Given the description of an element on the screen output the (x, y) to click on. 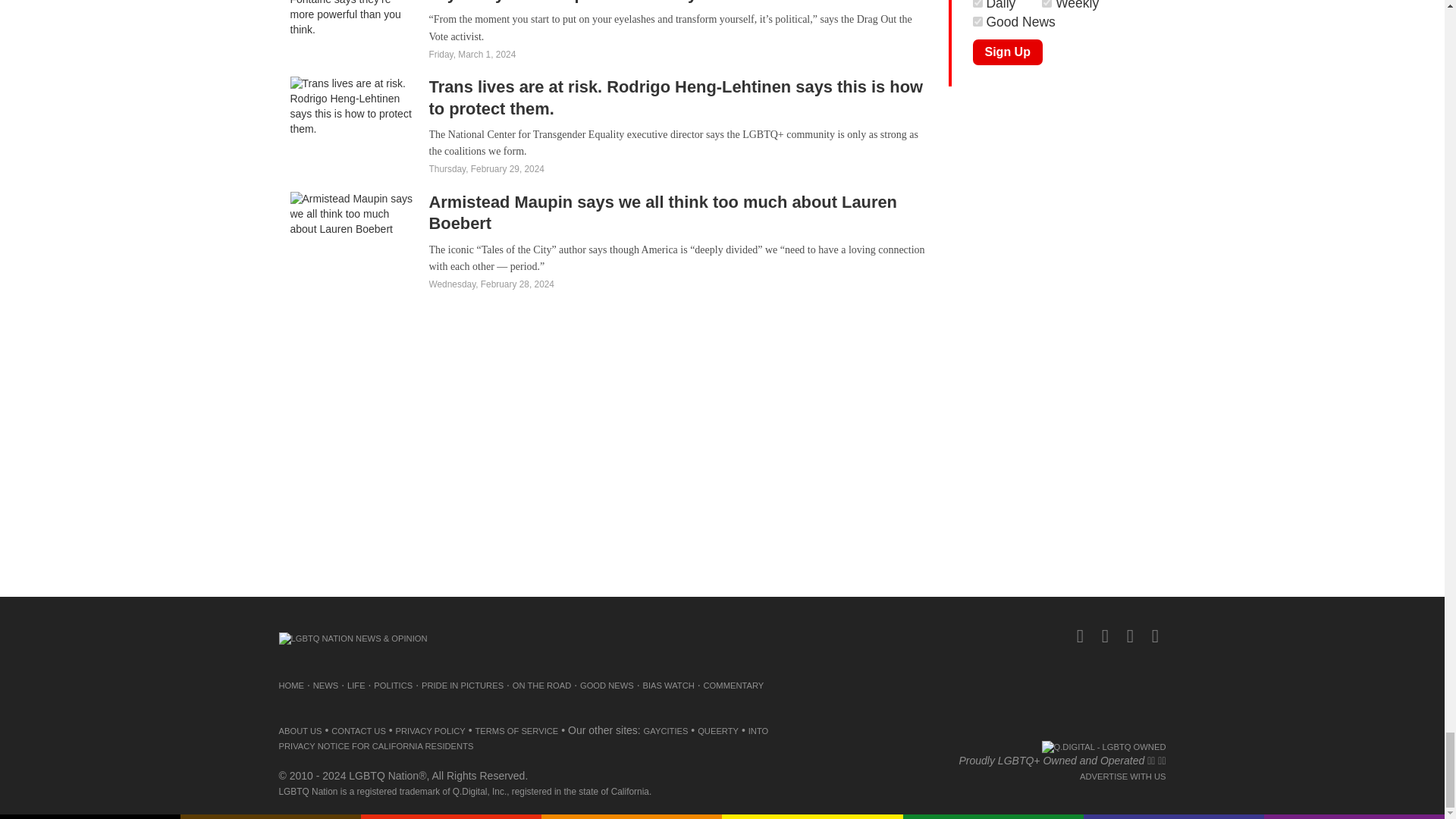
Sign Up (1007, 52)
1920883 (976, 21)
1920885 (976, 3)
1920884 (1046, 3)
